Given the description of an element on the screen output the (x, y) to click on. 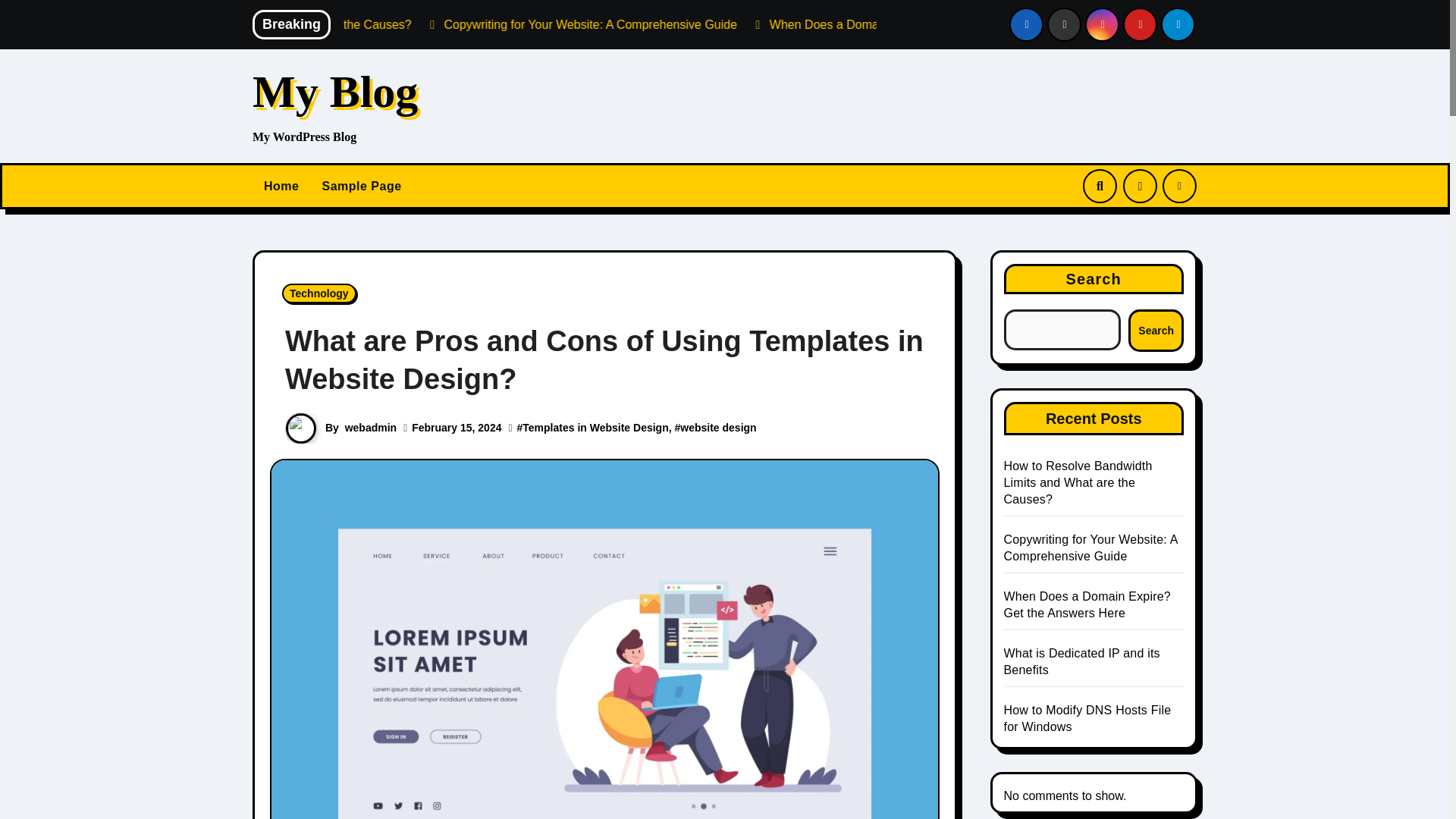
How to Resolve Bandwidth Limits and What are the Causes? (426, 24)
Copywriting for Your Website: A Comprehensive Guide (767, 24)
webadmin (370, 427)
website design (717, 427)
My Blog (334, 91)
Home (280, 187)
Templates in Website Design (595, 427)
Home (280, 187)
Sample Page (361, 187)
Technology (319, 293)
February 15, 2024 (456, 427)
